Given the description of an element on the screen output the (x, y) to click on. 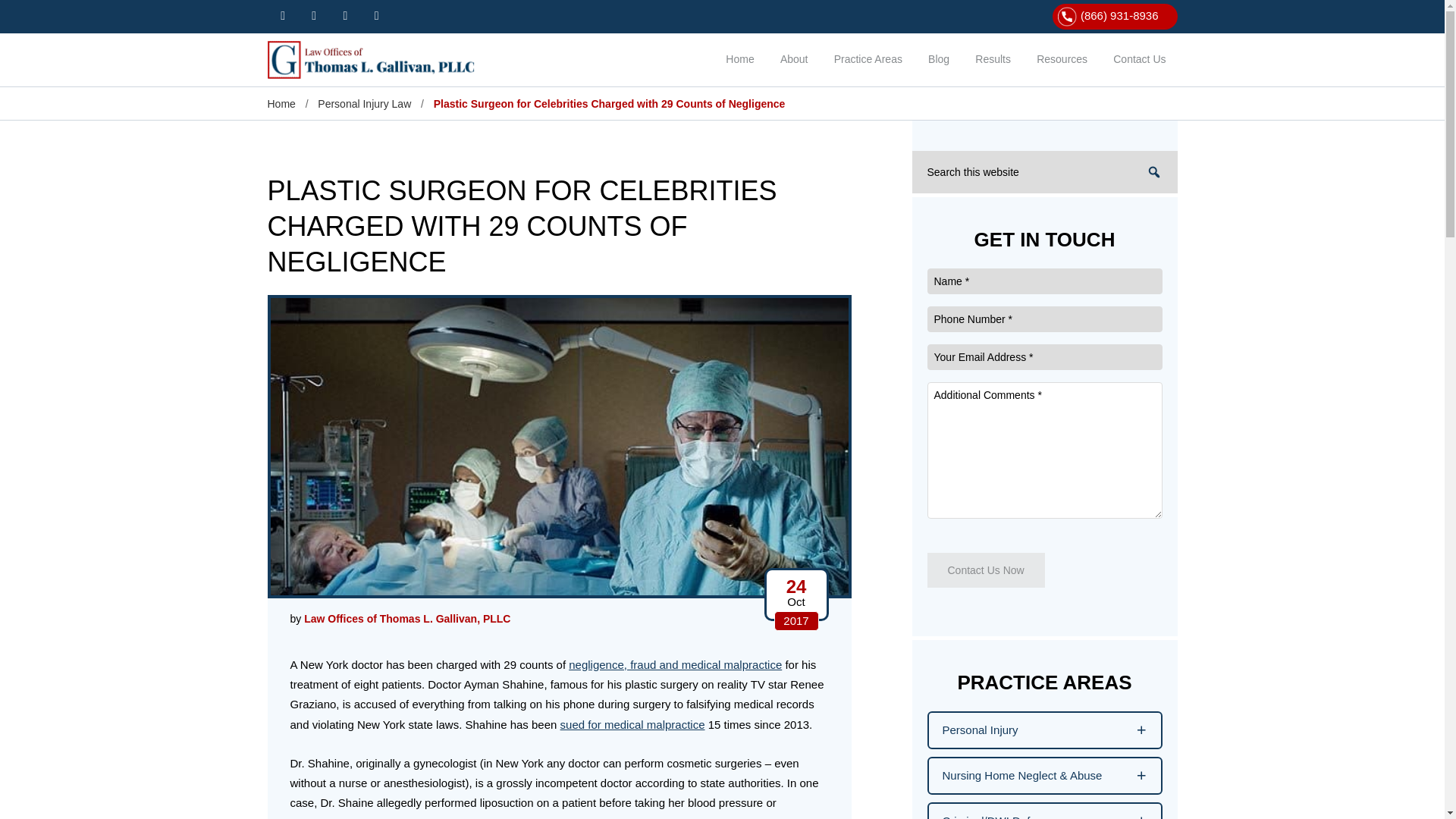
LAW OFFICES OF THOMAS L. GALLIVAN, PLLC (376, 59)
Practice Areas (867, 60)
Twitter (314, 15)
Contact Us Now (984, 570)
Youtube (345, 15)
Facebook alt (282, 15)
Linkedin (376, 15)
